Given the description of an element on the screen output the (x, y) to click on. 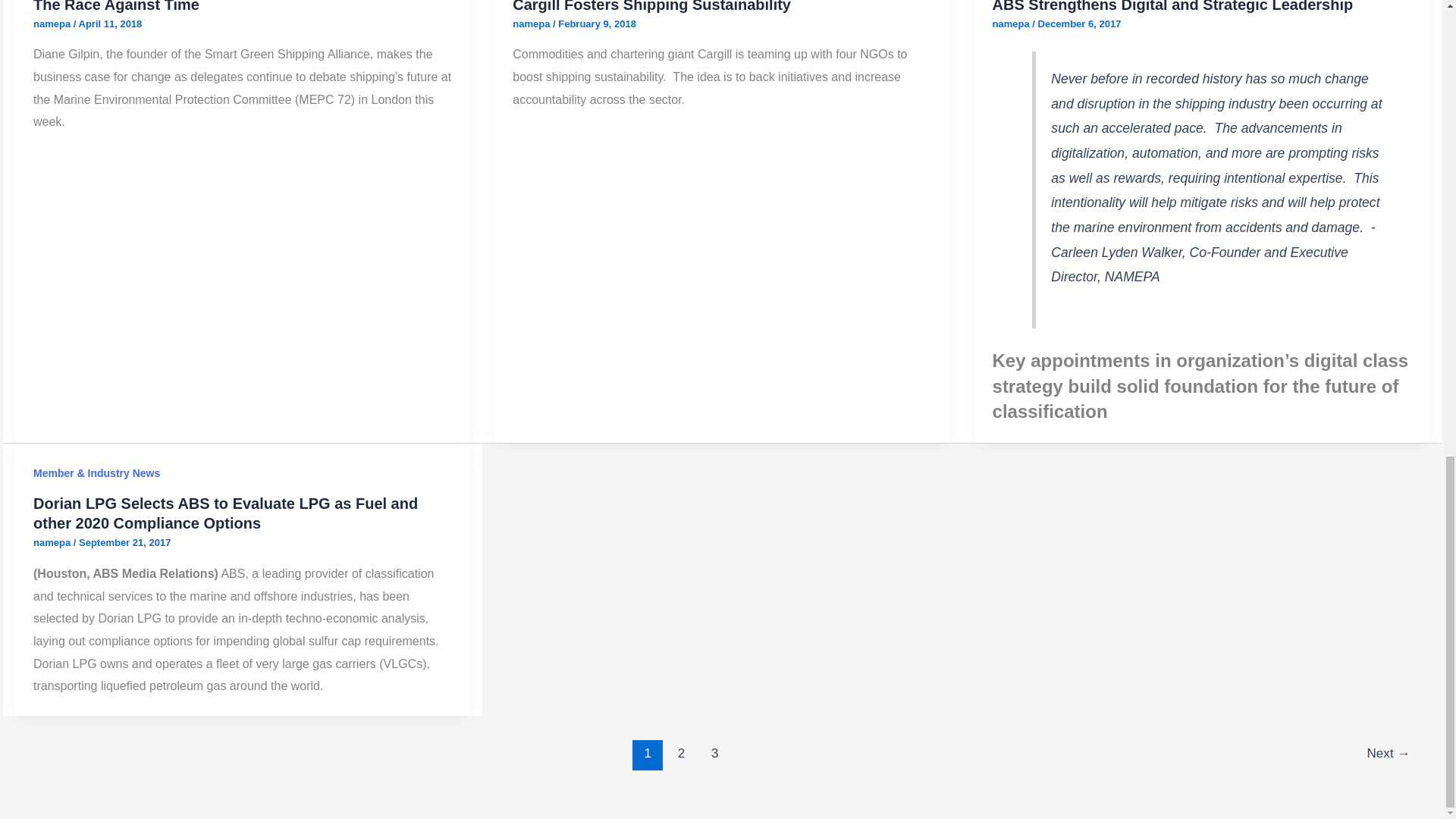
View all posts by namepa (1012, 23)
View all posts by namepa (53, 542)
View all posts by namepa (53, 23)
View all posts by namepa (532, 23)
